Given the description of an element on the screen output the (x, y) to click on. 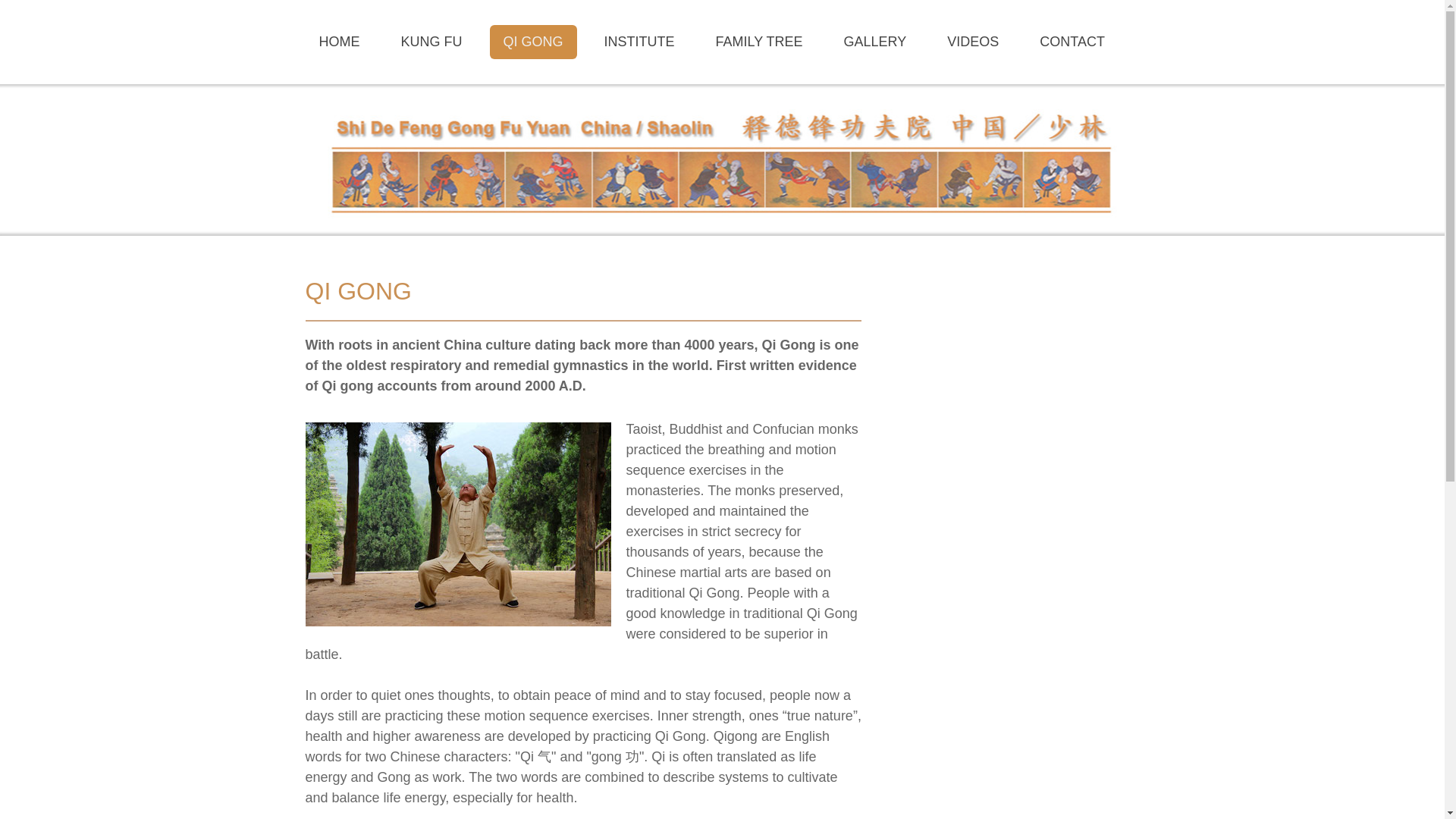
VIDEOS (972, 41)
QI GONG (532, 41)
INSTITUTE (639, 41)
GALLERY (874, 41)
CONTACT (1072, 41)
HOME (338, 41)
KUNG FU (431, 41)
FAMILY TREE (758, 41)
